Given the description of an element on the screen output the (x, y) to click on. 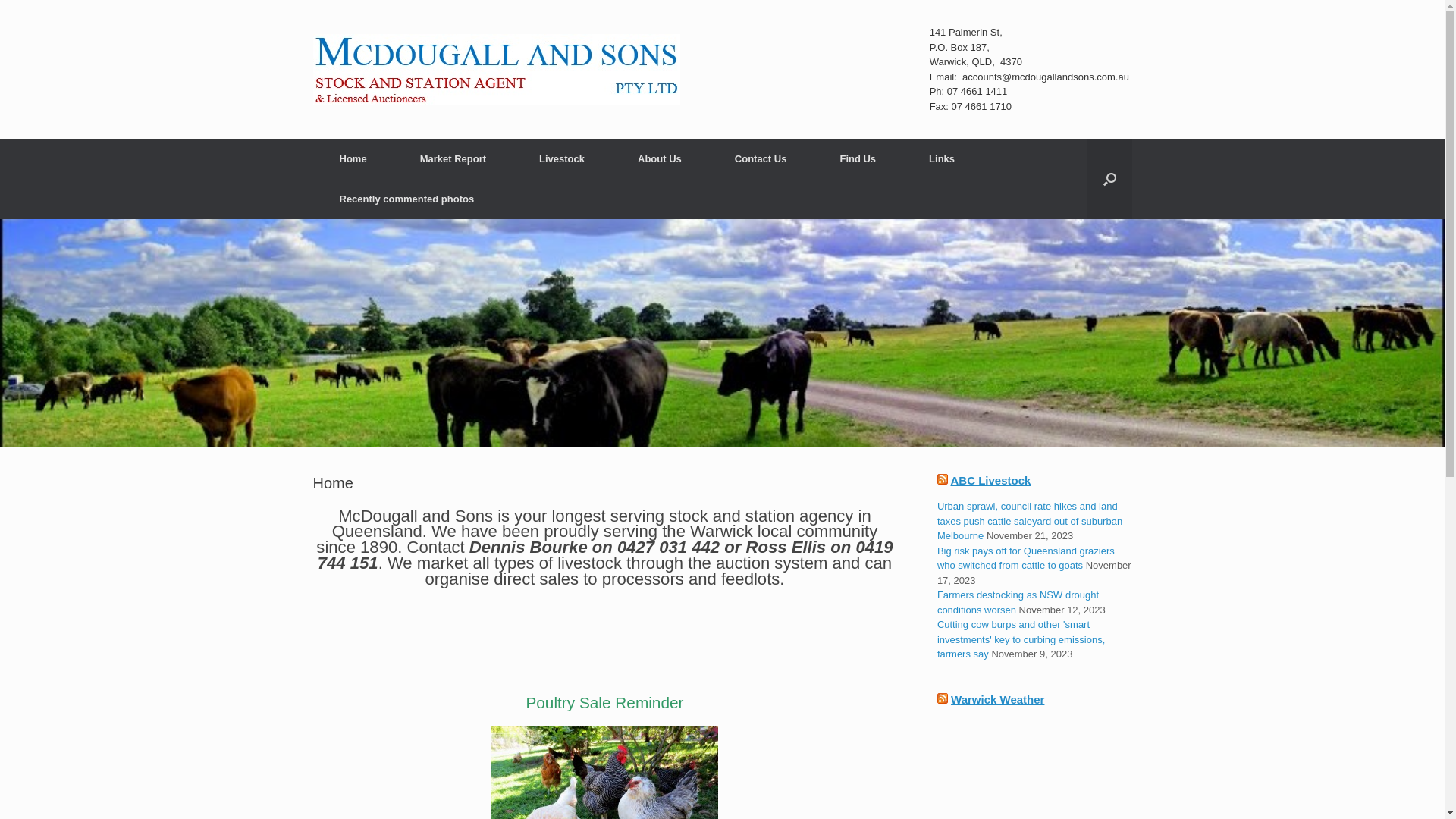
Home Element type: text (352, 158)
McDougall and Sons Pty Ltd Element type: hover (495, 69)
Find Us Element type: text (857, 158)
Links Element type: text (941, 158)
Contact Us Element type: text (760, 158)
Recently commented photos Element type: text (406, 198)
Market Report Element type: text (452, 158)
Livestock Element type: text (561, 158)
Farmers destocking as NSW drought conditions worsen Element type: text (1017, 602)
Warwick Weather Element type: text (997, 699)
ABC Livestock Element type: text (990, 479)
About Us Element type: text (659, 158)
